Given the description of an element on the screen output the (x, y) to click on. 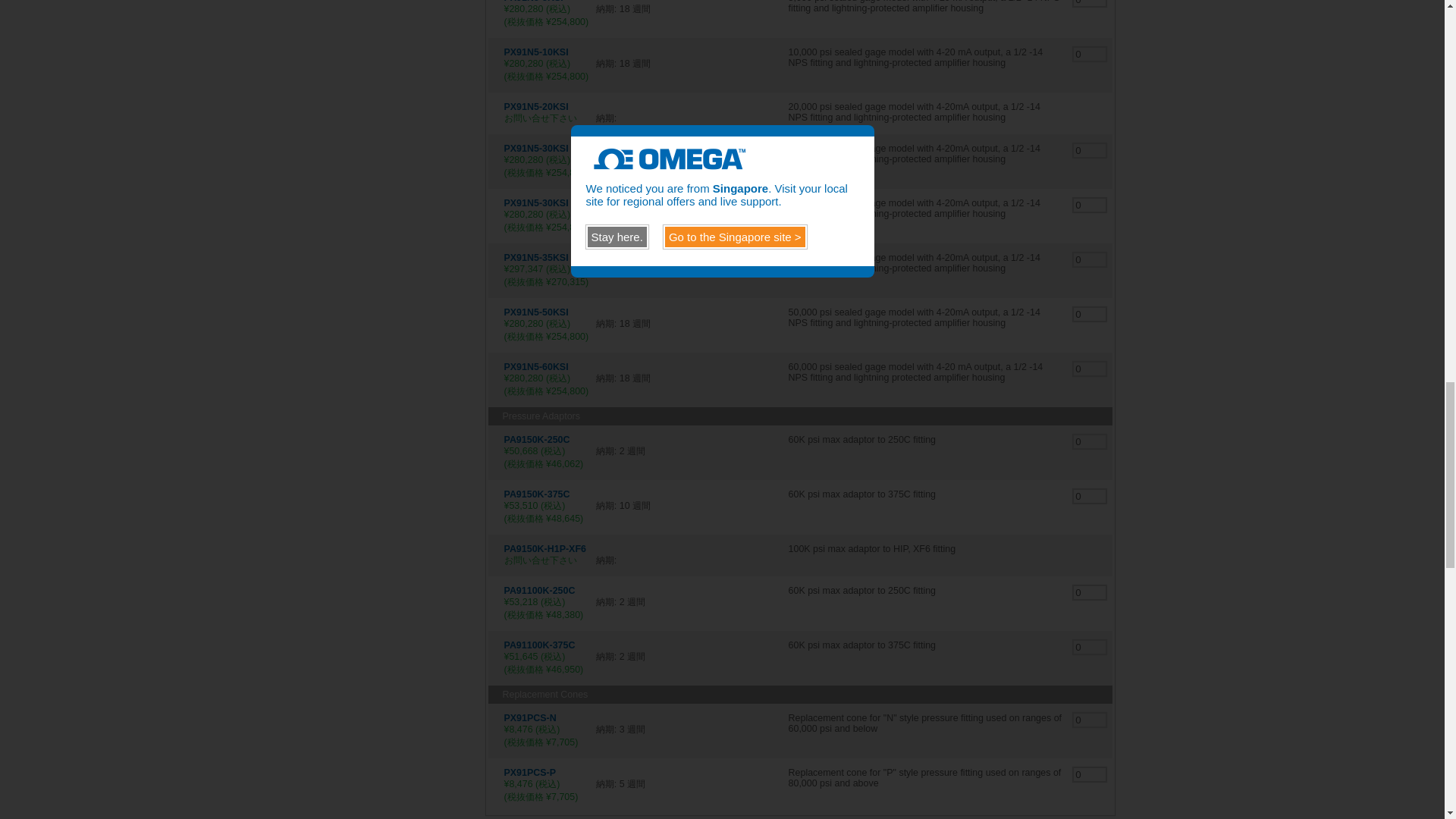
0 (1089, 53)
0 (1089, 368)
0 (1089, 259)
0 (1089, 150)
0 (1089, 3)
0 (1089, 314)
0 (1089, 205)
